Given the description of an element on the screen output the (x, y) to click on. 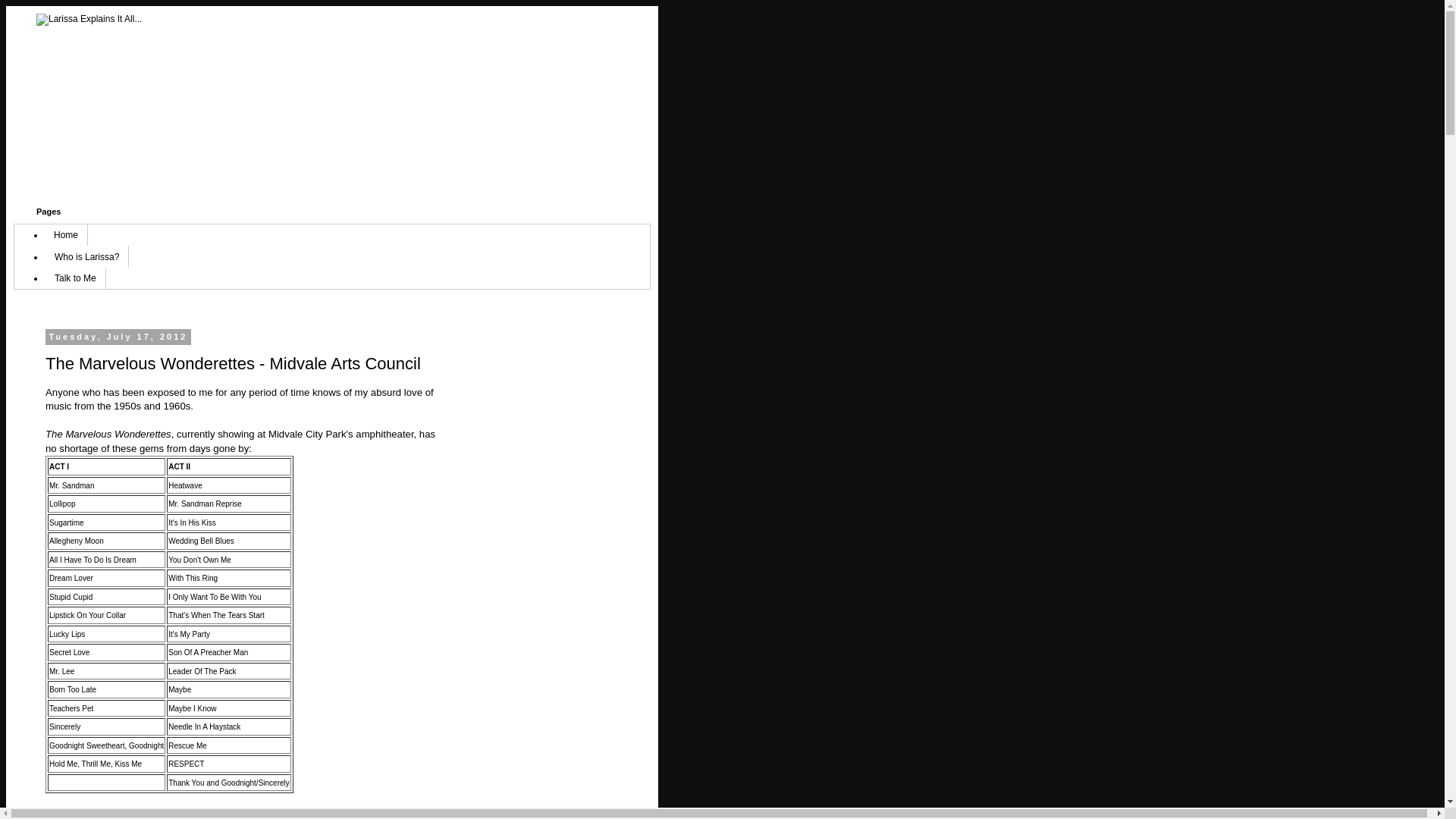
Home (66, 234)
Talk to Me (75, 278)
Who is Larissa? (87, 255)
my absurd love (388, 392)
The Marvelous Wonderettes (108, 433)
